Given the description of an element on the screen output the (x, y) to click on. 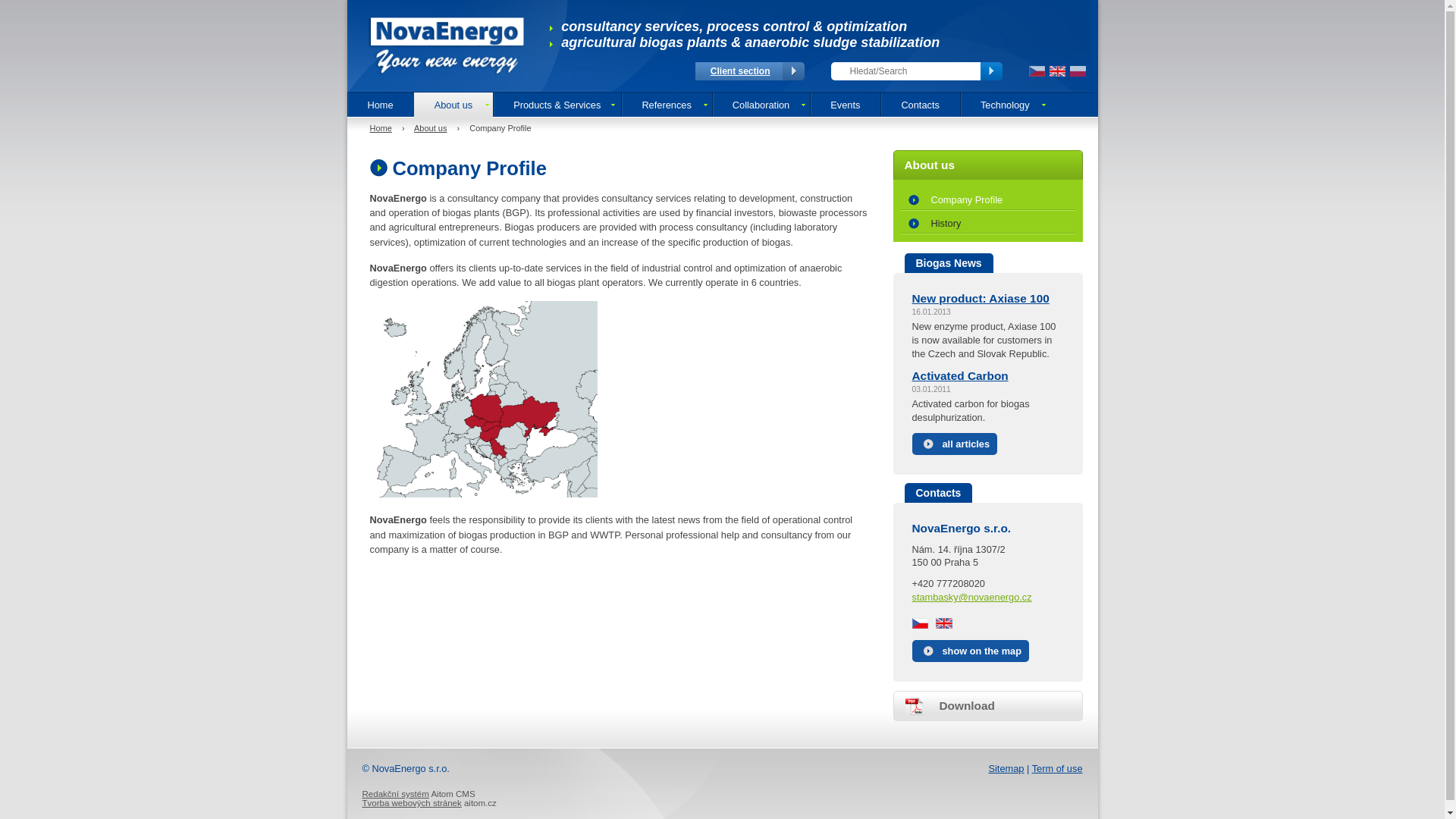
Client section (740, 71)
CMS Aitom (395, 793)
Events (844, 104)
Home (380, 127)
Home (380, 104)
About us (429, 127)
About us (453, 104)
References (666, 104)
Collaboration (760, 104)
Contacts (919, 104)
